Given the description of an element on the screen output the (x, y) to click on. 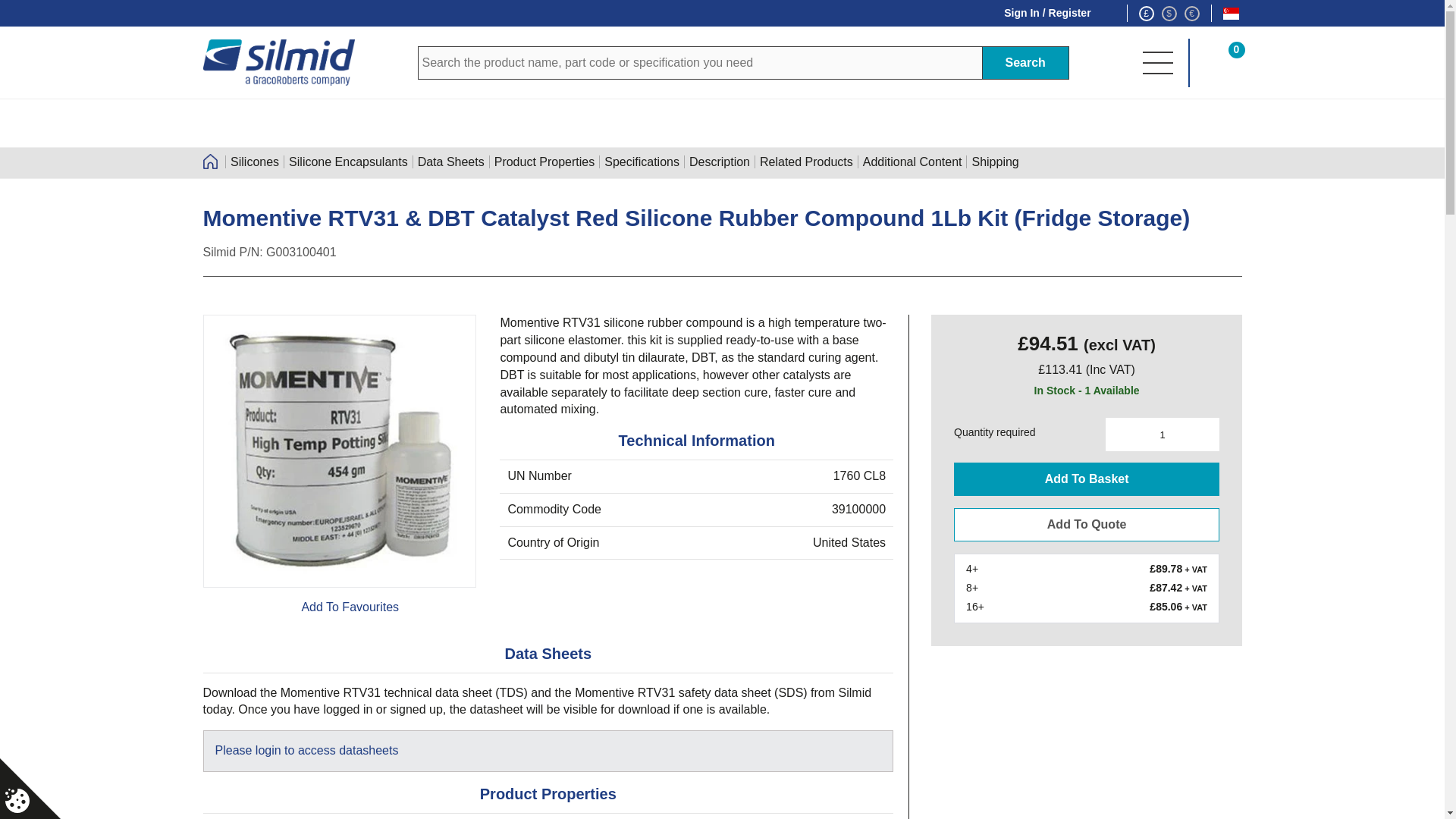
1 (1162, 434)
Open Cookie Consent (30, 788)
Open Cookie Consent (17, 800)
Add To Quote (1086, 524)
